Given the description of an element on the screen output the (x, y) to click on. 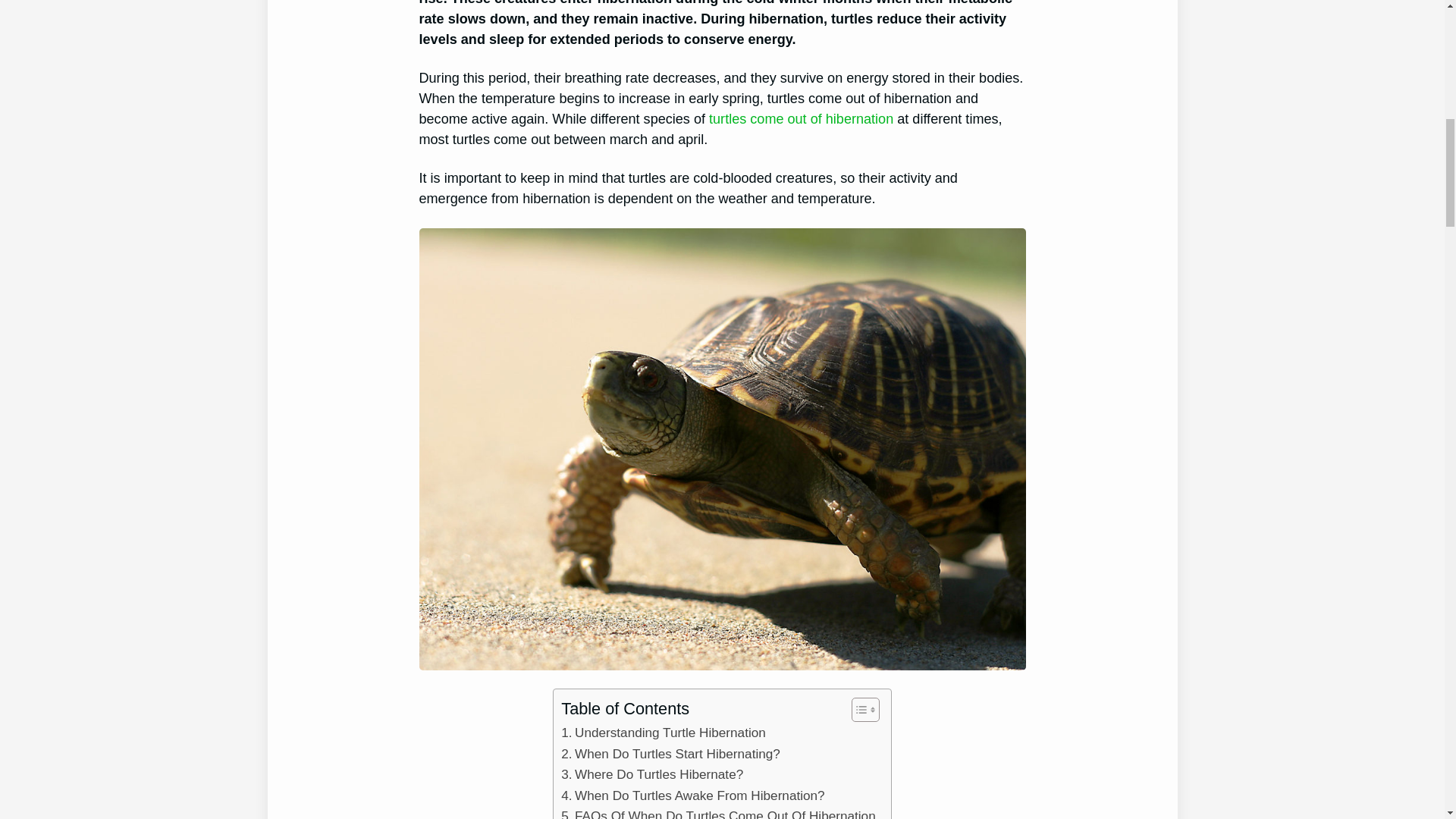
Where Do Turtles Hibernate? (651, 774)
turtles come out of hibernation (801, 118)
Understanding Turtle Hibernation (662, 732)
FAQs Of When Do Turtles Come Out Of Hibernation (717, 812)
Understanding Turtle Hibernation (662, 732)
When Do Turtles Awake From Hibernation? (692, 795)
When Do Turtles Start Hibernating? (670, 753)
When Do Turtles Start Hibernating? (670, 753)
Where Do Turtles Hibernate? (651, 774)
When Do Turtles Awake From Hibernation? (692, 795)
FAQs Of When Do Turtles Come Out Of Hibernation (717, 812)
